Given the description of an element on the screen output the (x, y) to click on. 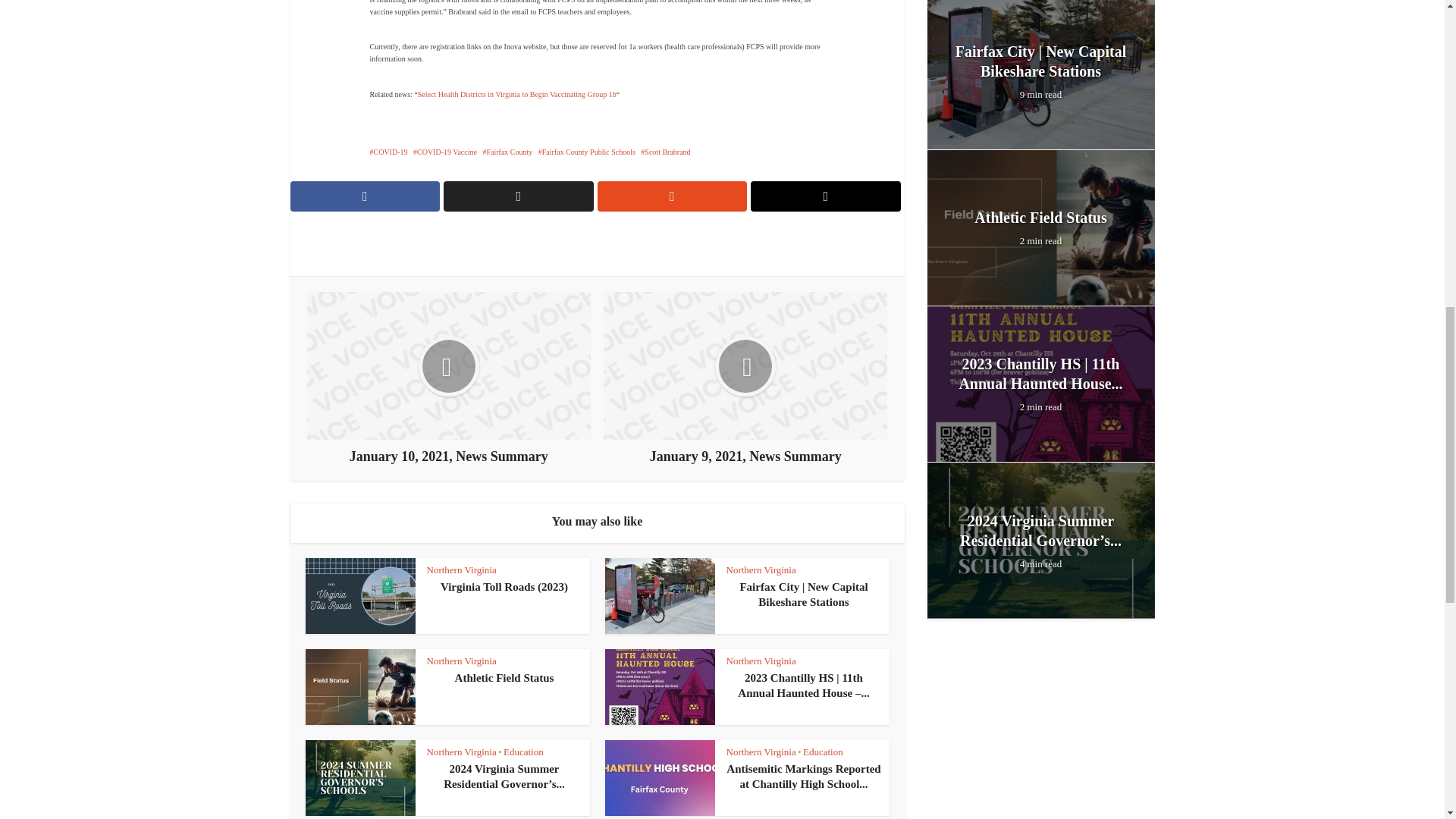
COVID-19 Vaccine (445, 152)
Athletic Field Status (504, 677)
January 10, 2021, News Summary (449, 378)
Athletic Field Status 4 (359, 686)
Scott Brabrand (665, 152)
January 9, 2021, News Summary (745, 378)
Fairfax County (506, 152)
COVID-19 (388, 152)
Fairfax County Public Schools (586, 152)
